Given the description of an element on the screen output the (x, y) to click on. 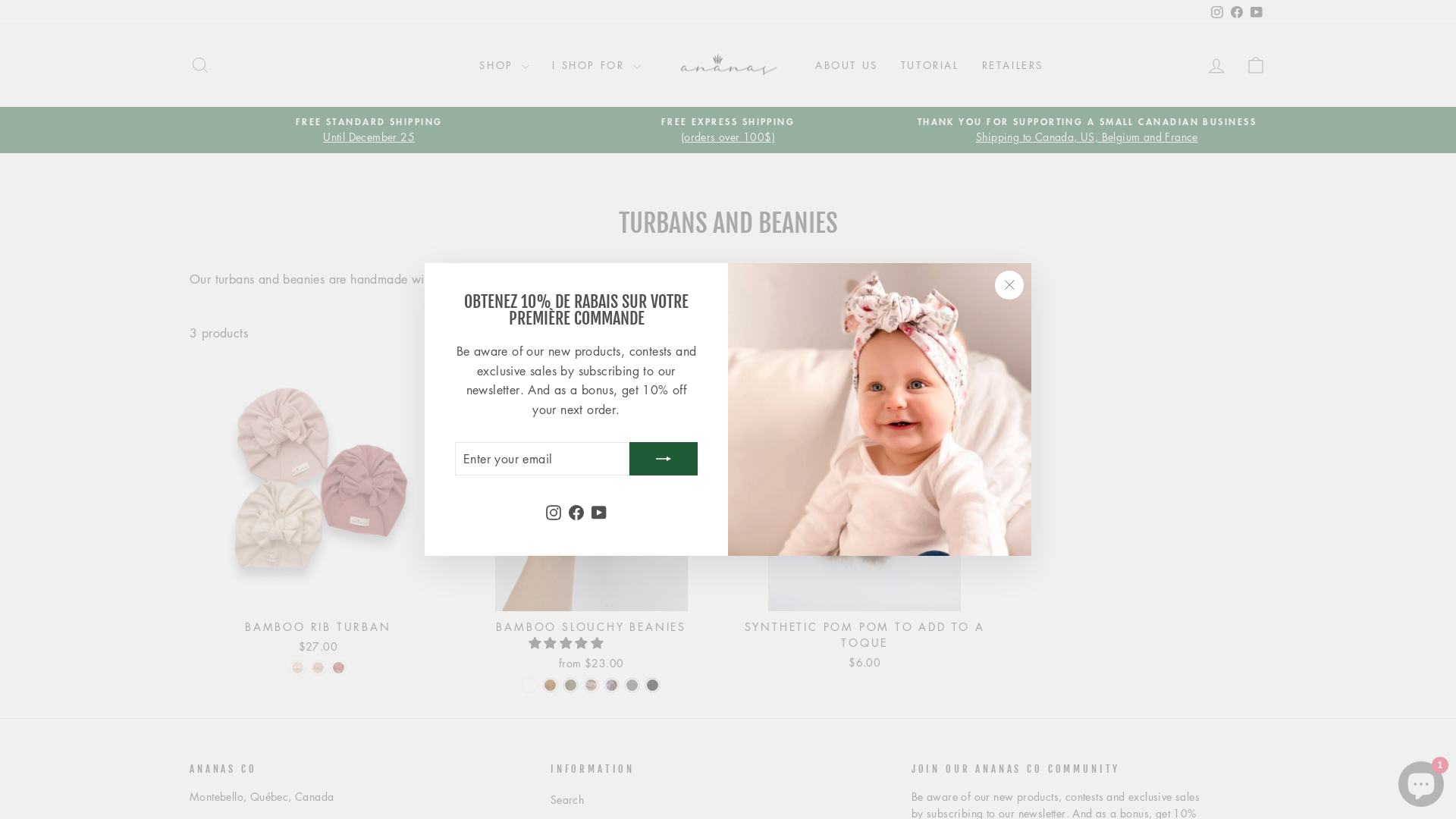
Instagram Element type: text (553, 511)
BAMBOO RIB TURBAN
$27.00 Element type: text (317, 634)
SYNTHETIC POM POM TO ADD TO A TOQUE
$6.00 Element type: text (864, 642)
instagram
Instagram Element type: text (1216, 12)
ICON-SEARCH
SEARCH Element type: text (199, 65)
Facebook Element type: text (575, 511)
icon-X
"Close (esc)" Element type: text (1008, 284)
ABOUT US Element type: text (846, 64)
Facebook Element type: text (1236, 12)
ICON-BAG-MINIMAL
CART Element type: text (1255, 65)
ACCOUNT
LOG IN Element type: text (1216, 65)
TUTORIAL Element type: text (929, 64)
RETAILERS Element type: text (1012, 64)
Search Element type: text (566, 799)
YouTube Element type: text (1256, 12)
FREE EXPRESS SHIPPING
(orders over 100$) Element type: text (727, 129)
FREE STANDARD SHIPPING
Until December 25 Element type: text (368, 129)
Shopify online store chat Element type: hover (1420, 780)
YouTube Element type: text (598, 511)
BAMBOO SLOUCHY BEANIES
from $23.00 Element type: text (590, 643)
